Given the description of an element on the screen output the (x, y) to click on. 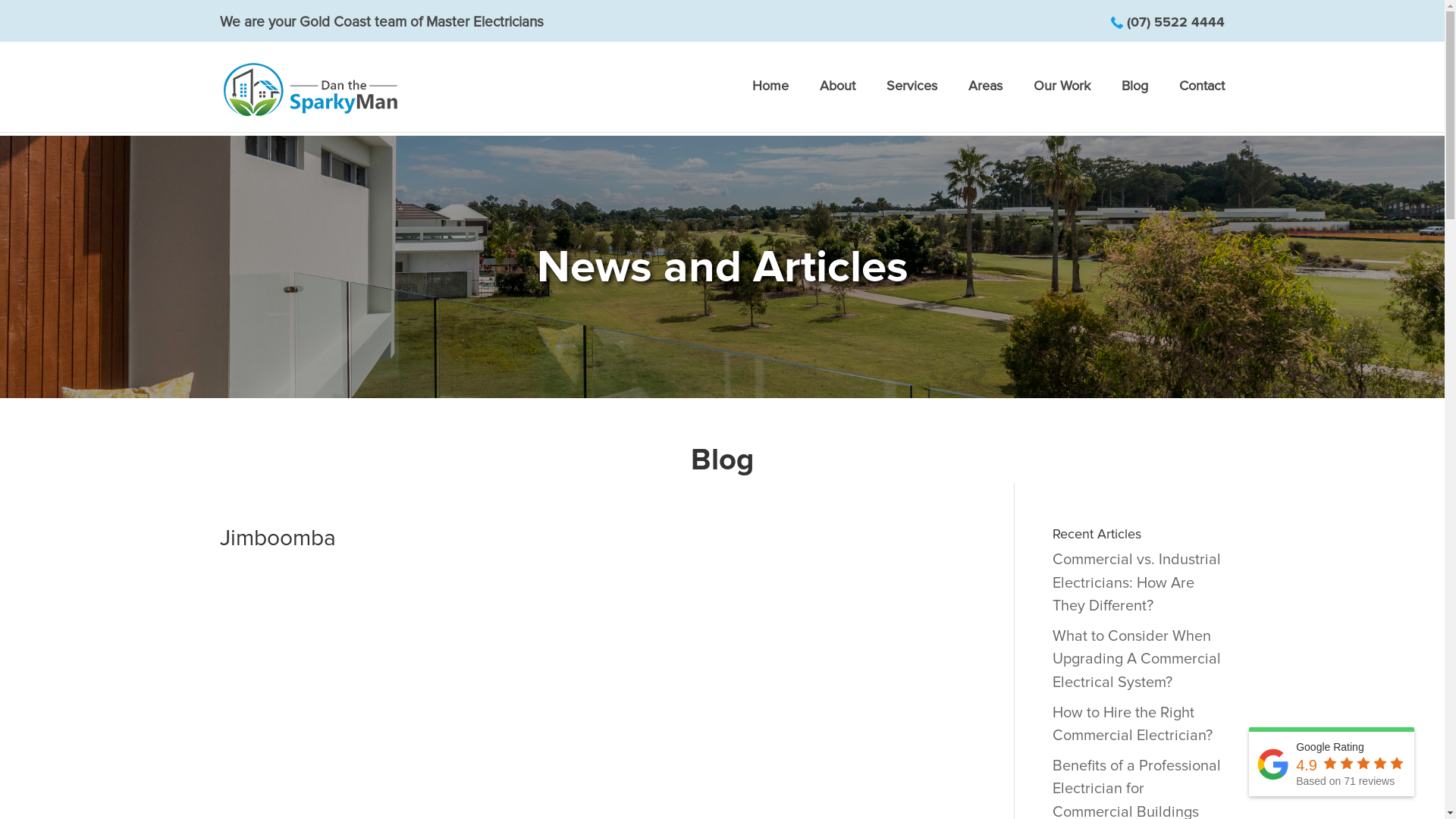
Areas Element type: text (985, 89)
About Element type: text (837, 89)
Blog Element type: text (1134, 89)
Our Work Element type: text (1061, 89)
Contact Element type: text (1201, 89)
Services Element type: text (911, 89)
(07) 5522 4444 Element type: text (1175, 21)
Home Element type: text (770, 89)
How to Hire the Right Commercial Electrician? Element type: text (1132, 724)
